Given the description of an element on the screen output the (x, y) to click on. 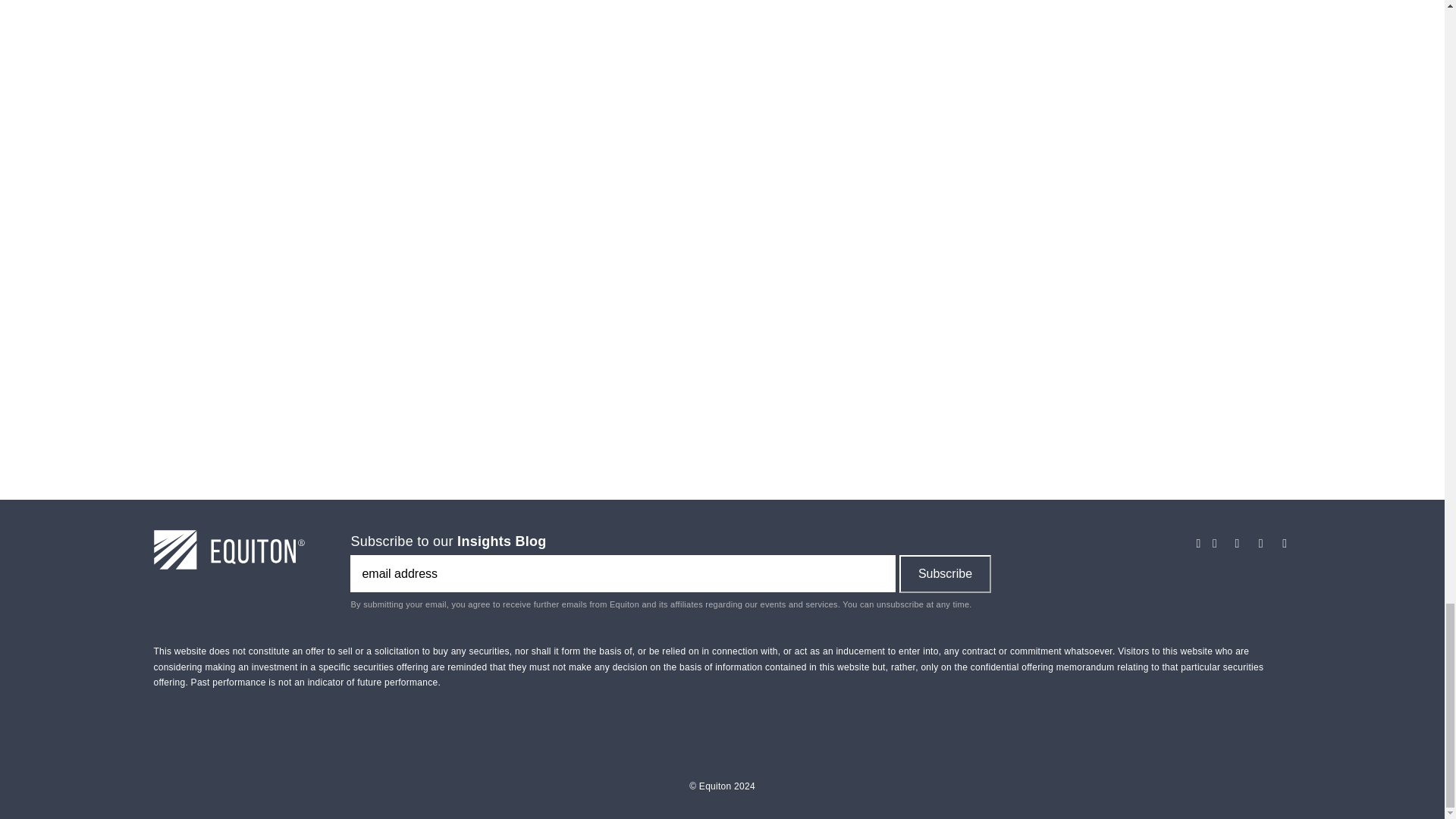
Subscribe (945, 573)
